Given the description of an element on the screen output the (x, y) to click on. 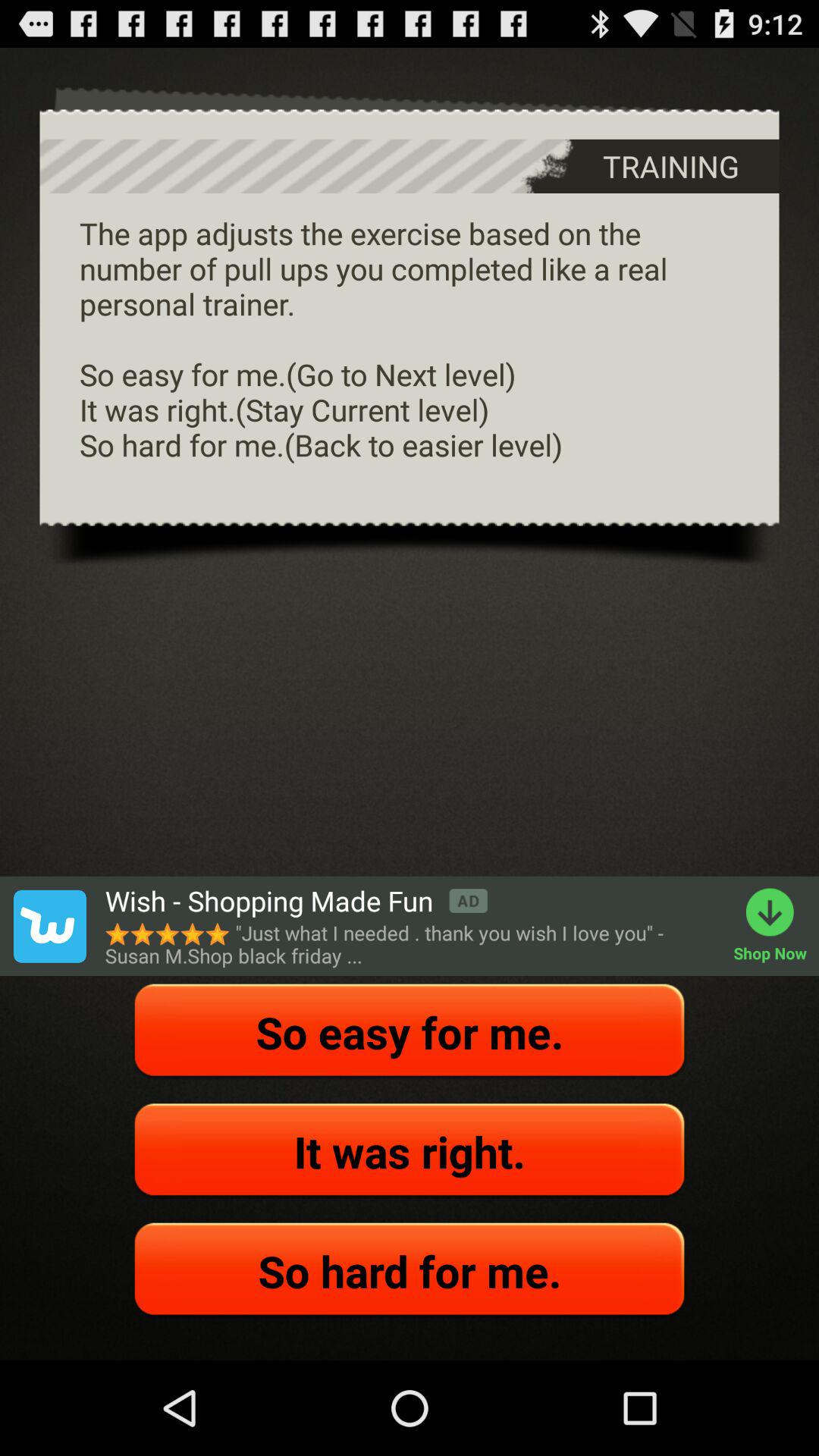
choose the icon next to shop now (296, 900)
